Given the description of an element on the screen output the (x, y) to click on. 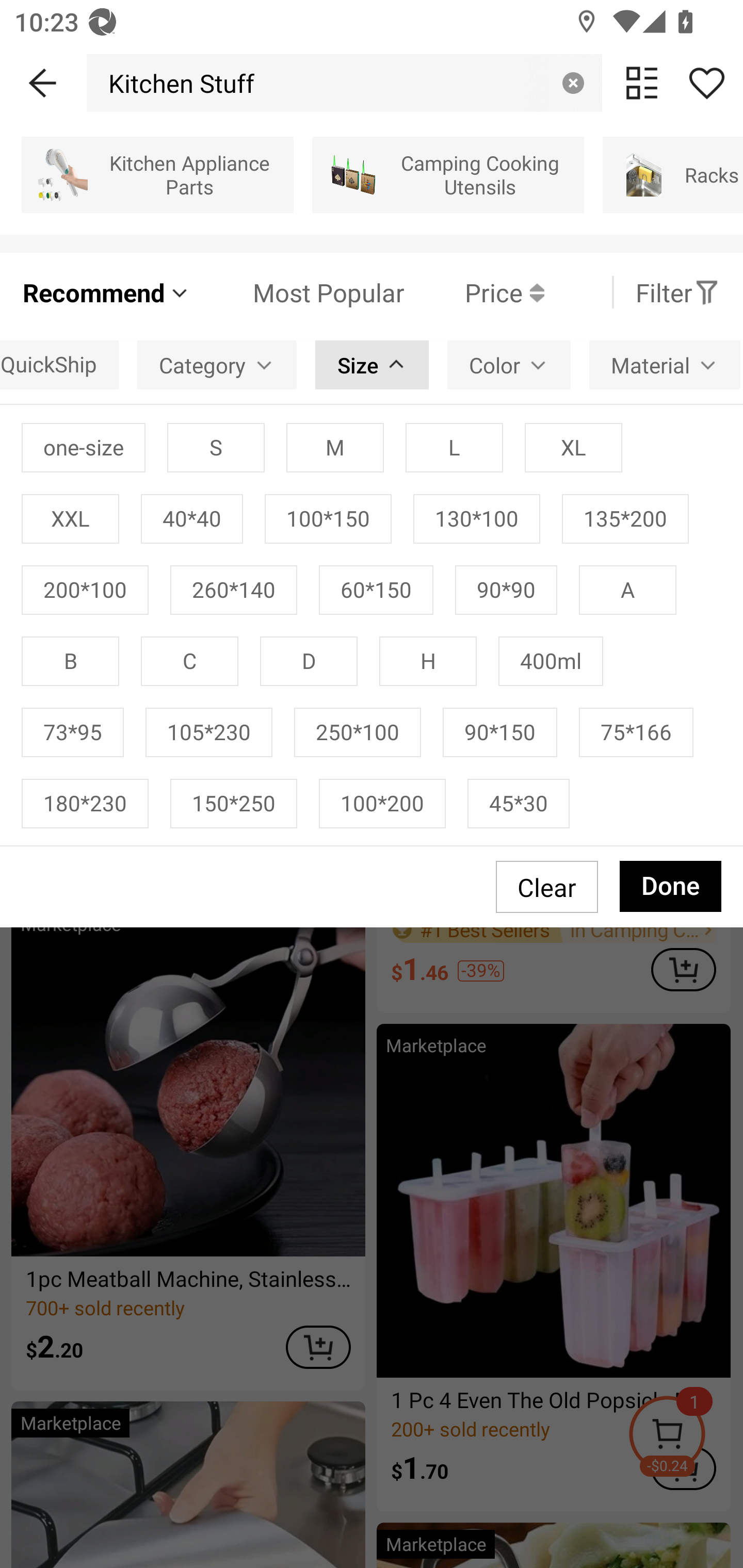
Kitchen Stuff (175, 82)
Clear (572, 82)
change view (641, 82)
Share (706, 82)
Kitchen Appliance Parts (157, 174)
Camping Cooking Utensils (447, 174)
Racks & Holders (672, 174)
Recommend (106, 292)
Most Popular (297, 292)
Price (474, 292)
Filter (677, 292)
QuickShip (59, 364)
Category (216, 364)
Size (371, 364)
Color (508, 364)
Material (664, 364)
